Given the description of an element on the screen output the (x, y) to click on. 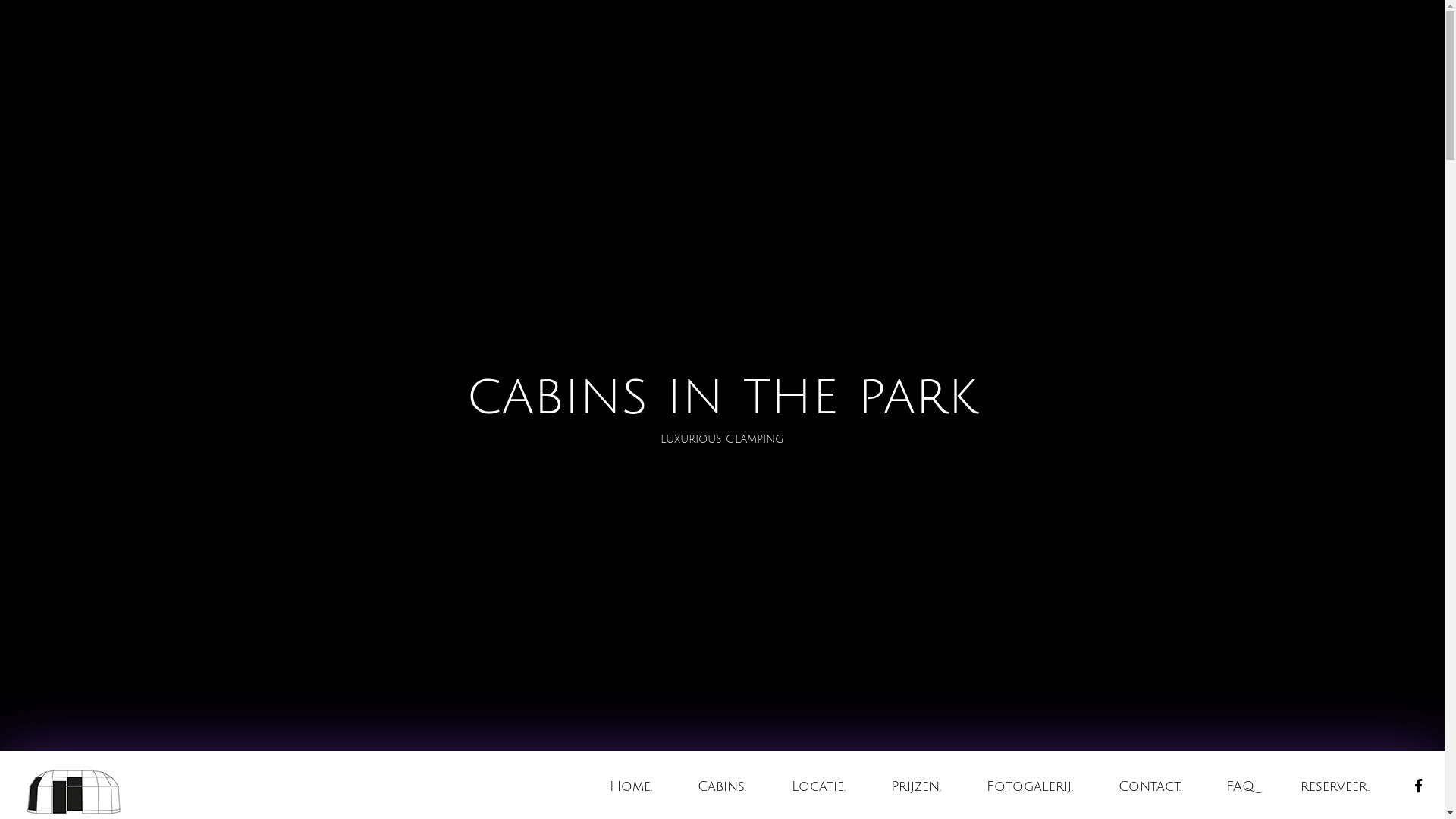
3 Element type: text (721, 782)
